Given the description of an element on the screen output the (x, y) to click on. 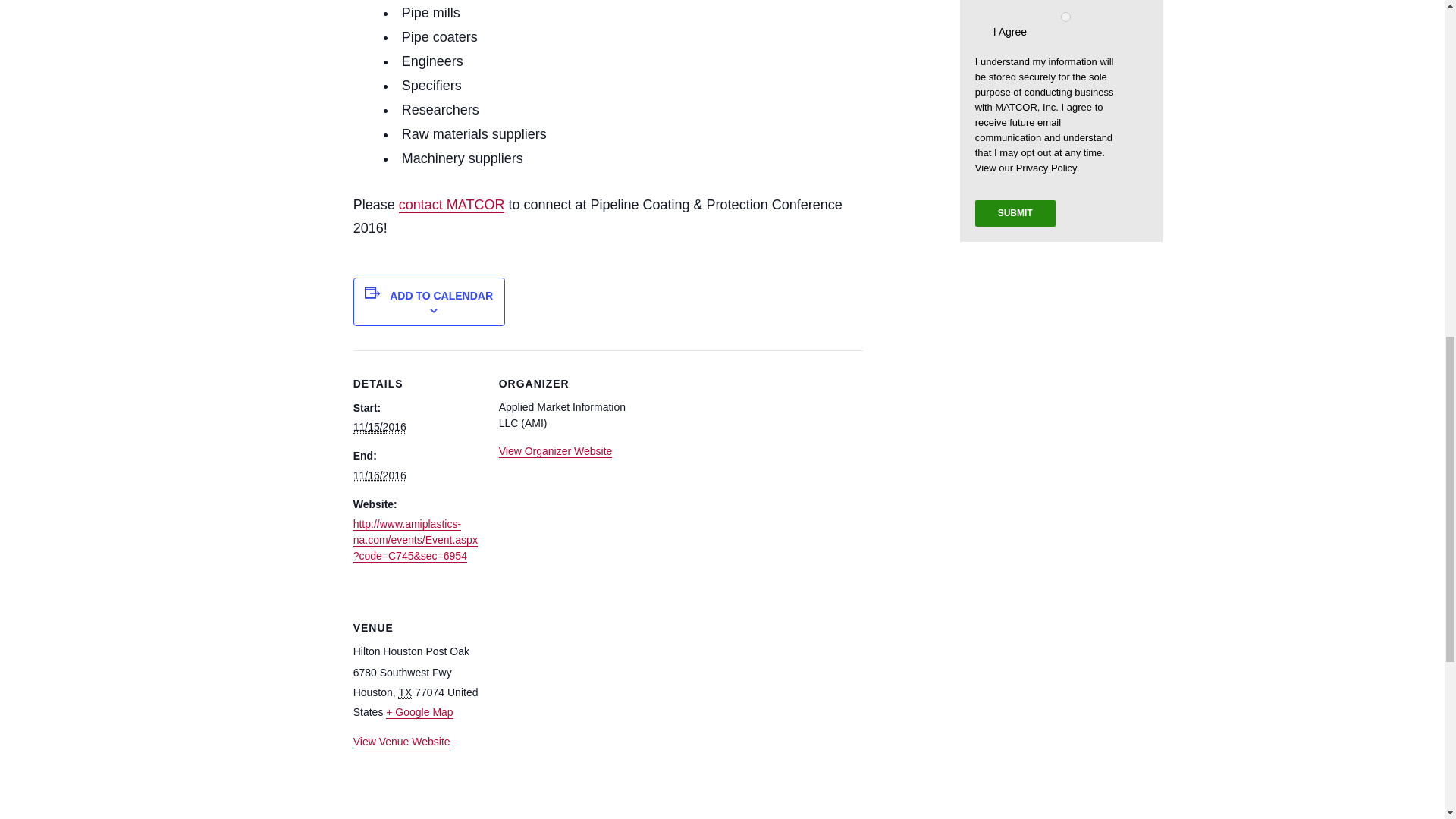
2016-11-15 (379, 427)
contact MATCOR (451, 204)
ADD TO CALENDAR (441, 295)
Submit (1015, 212)
Texas (404, 692)
Click to view a Google Map (418, 712)
2016-11-16 (379, 475)
